Given the description of an element on the screen output the (x, y) to click on. 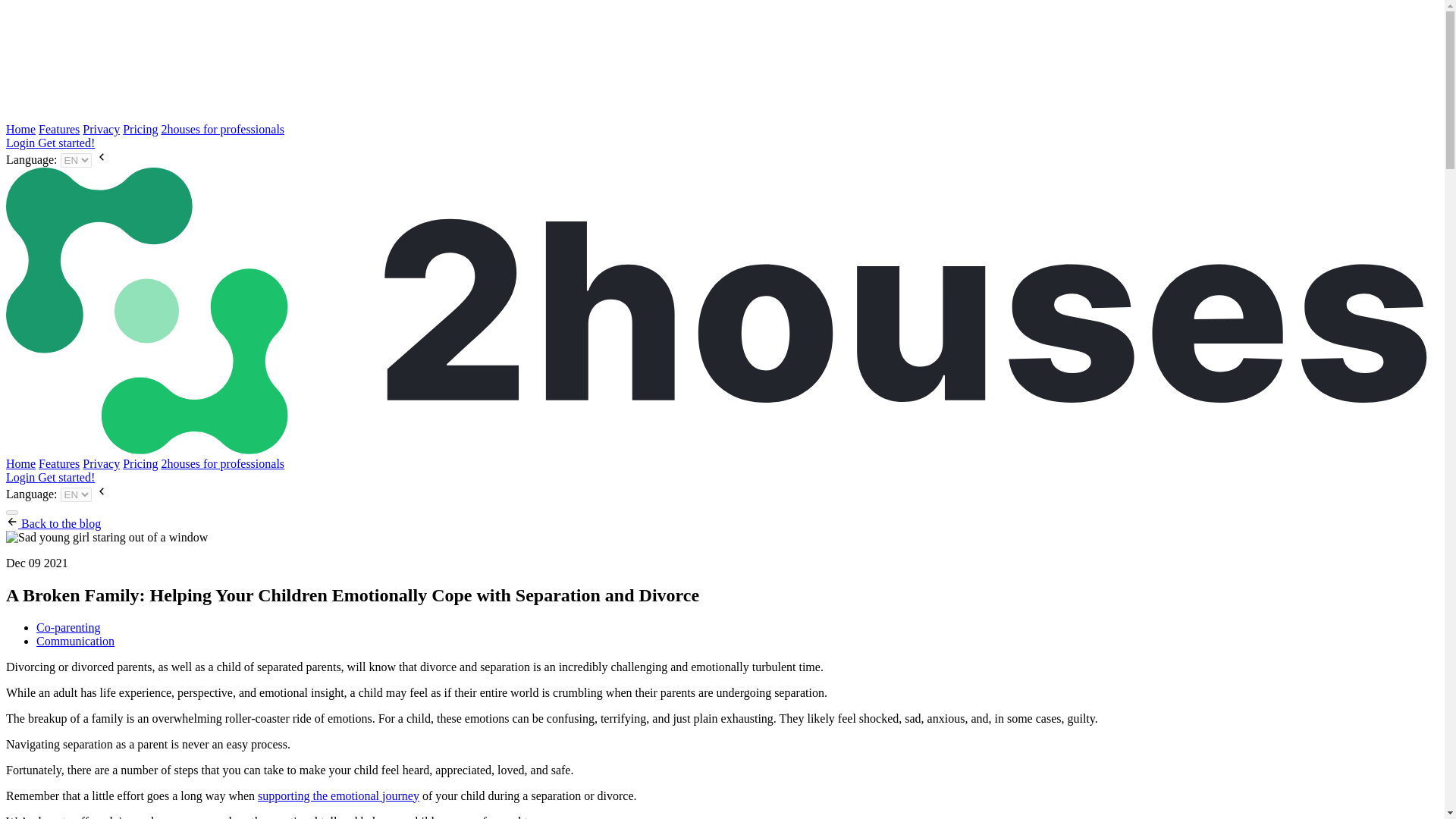
Home (19, 463)
Co-parenting (68, 626)
Login (21, 477)
Communication (75, 640)
supporting the emotional journey (338, 795)
Features (59, 463)
2houses for professionals (221, 463)
2houses for professionals (221, 128)
Home (19, 128)
Back to the blog (52, 522)
Pricing (139, 128)
Login (21, 142)
Privacy (100, 463)
Get started! (65, 142)
Privacy (100, 128)
